Given the description of an element on the screen output the (x, y) to click on. 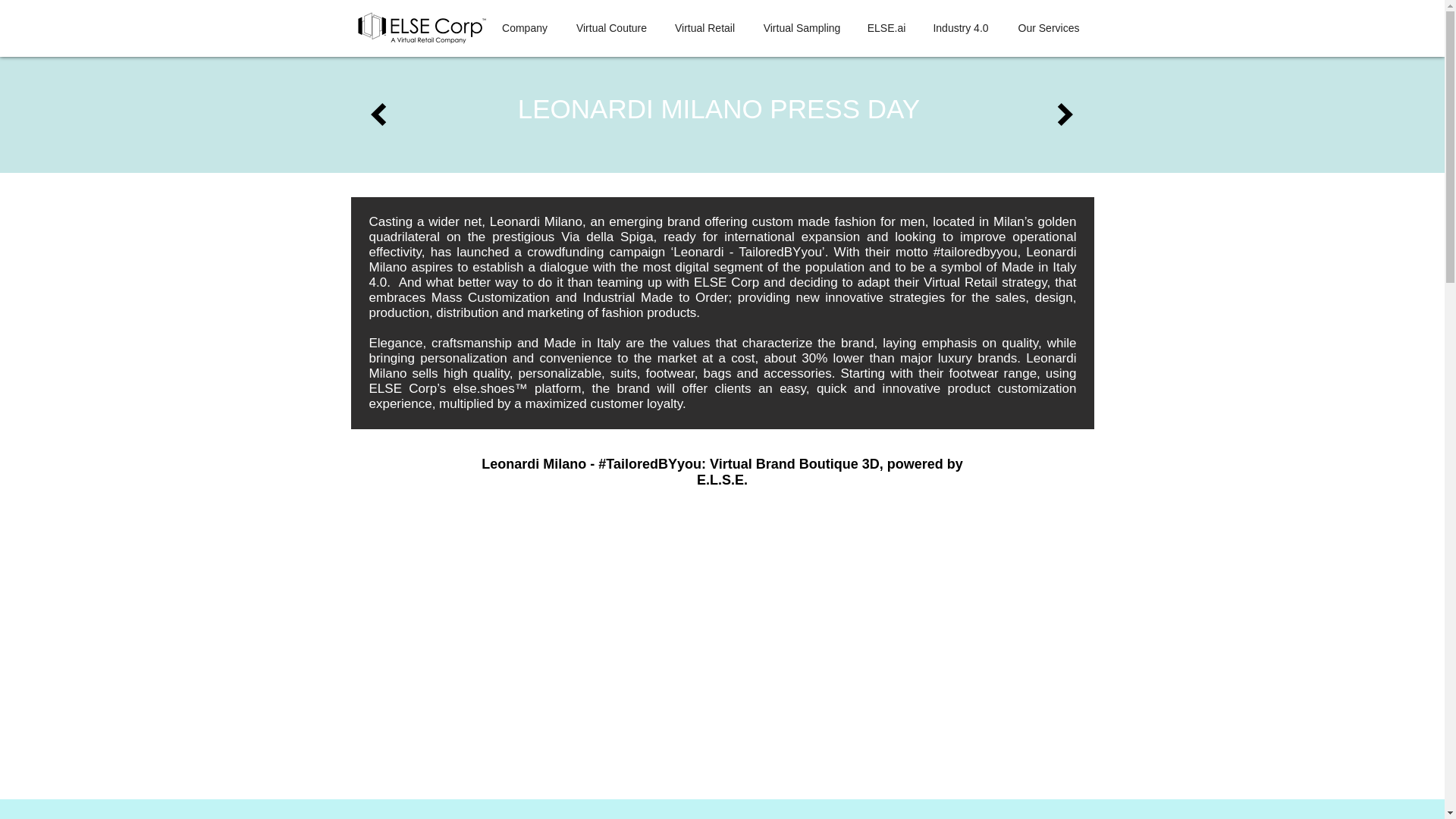
Virtual Sampling (802, 28)
Industry 4.0 (960, 28)
Company (524, 28)
Virtual Retail (705, 28)
ELSE.ai (887, 28)
Virtual Couture (611, 28)
ELSE Cop Logo (420, 28)
Our Services (1049, 28)
